Given the description of an element on the screen output the (x, y) to click on. 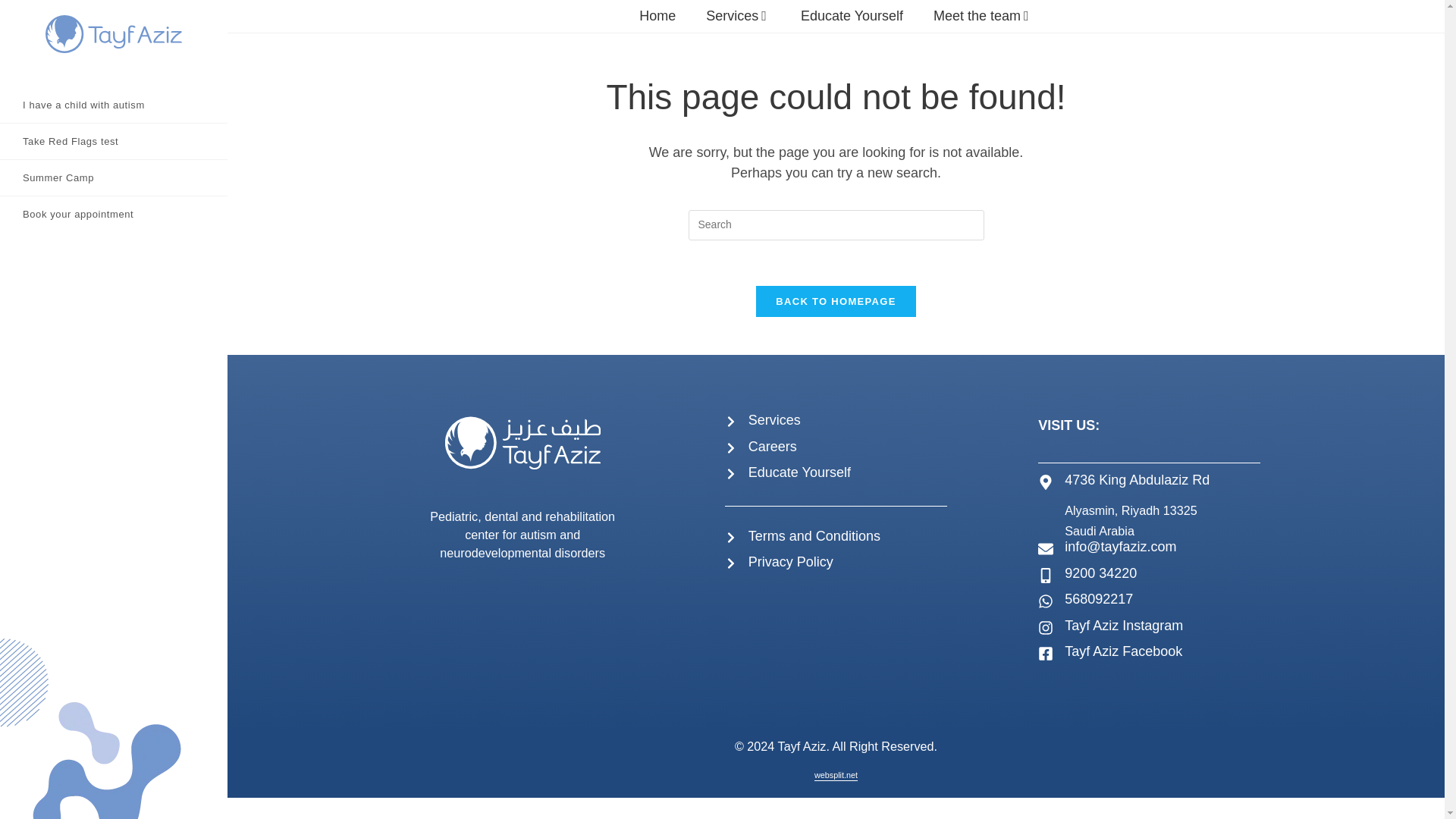
Services (738, 15)
Educate Yourself (851, 15)
Take Red Flags test (113, 140)
Home (657, 15)
Services (774, 419)
Educate Yourself (799, 472)
I have a child with autism (113, 104)
Careers (772, 446)
Book your appointment (113, 213)
Meet the team (982, 15)
